Given the description of an element on the screen output the (x, y) to click on. 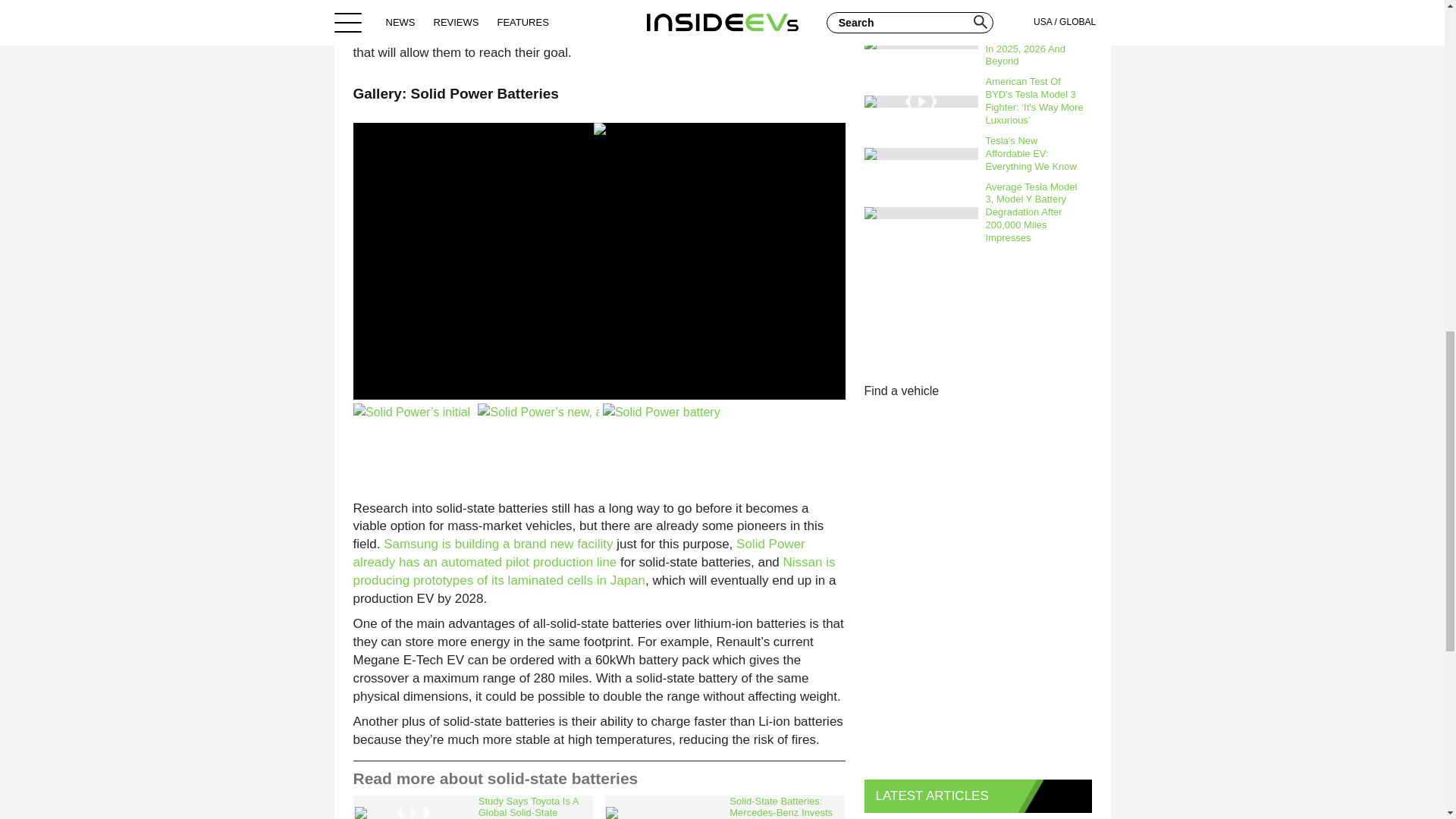
Solid-State Batteries: Mercedes-Benz Invests In ProLogium (724, 807)
Samsung is building a brand new facility (498, 544)
Solid Power already has an automated pilot production line (579, 553)
